Given the description of an element on the screen output the (x, y) to click on. 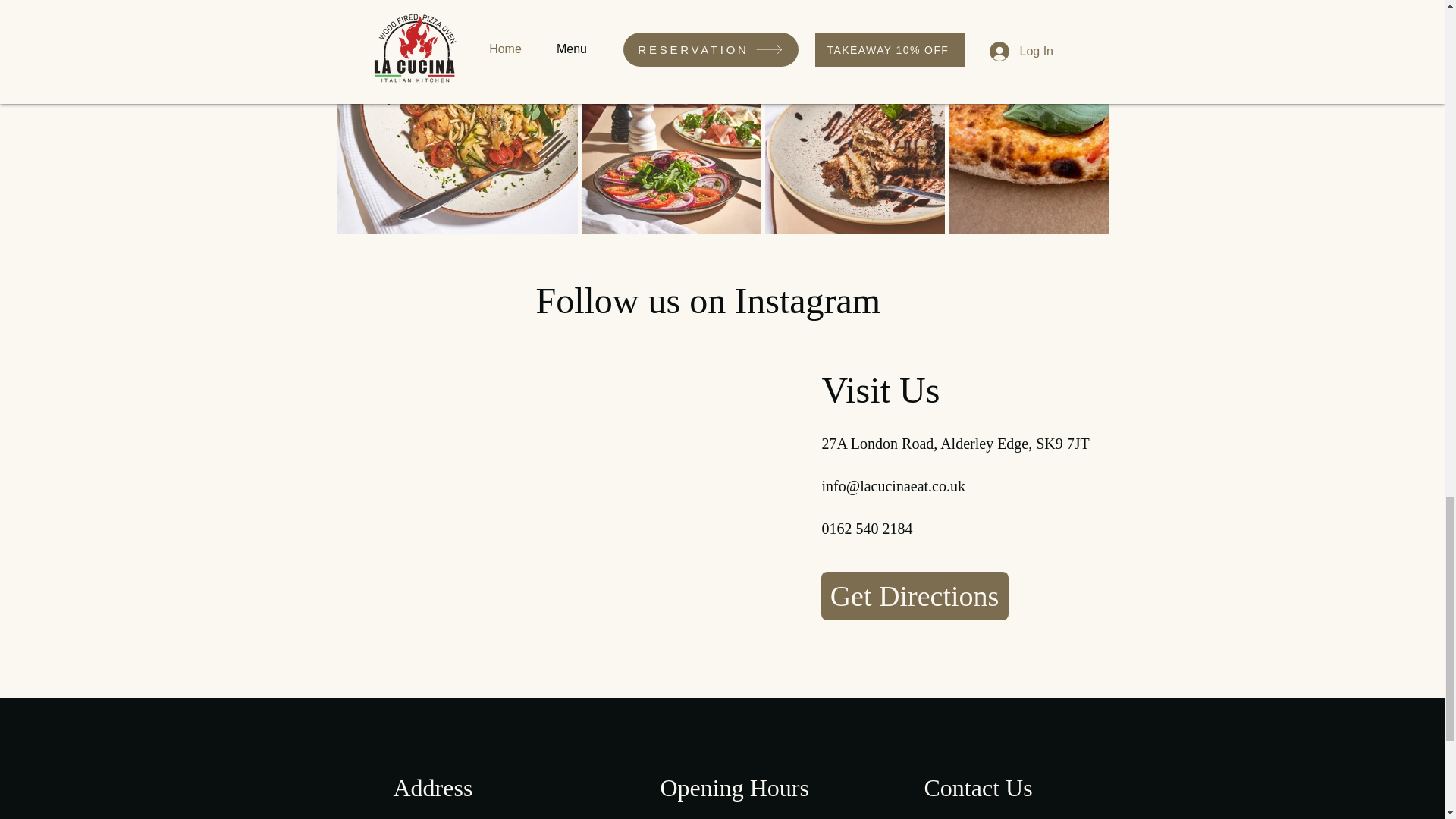
Get Directions (914, 595)
